Given the description of an element on the screen output the (x, y) to click on. 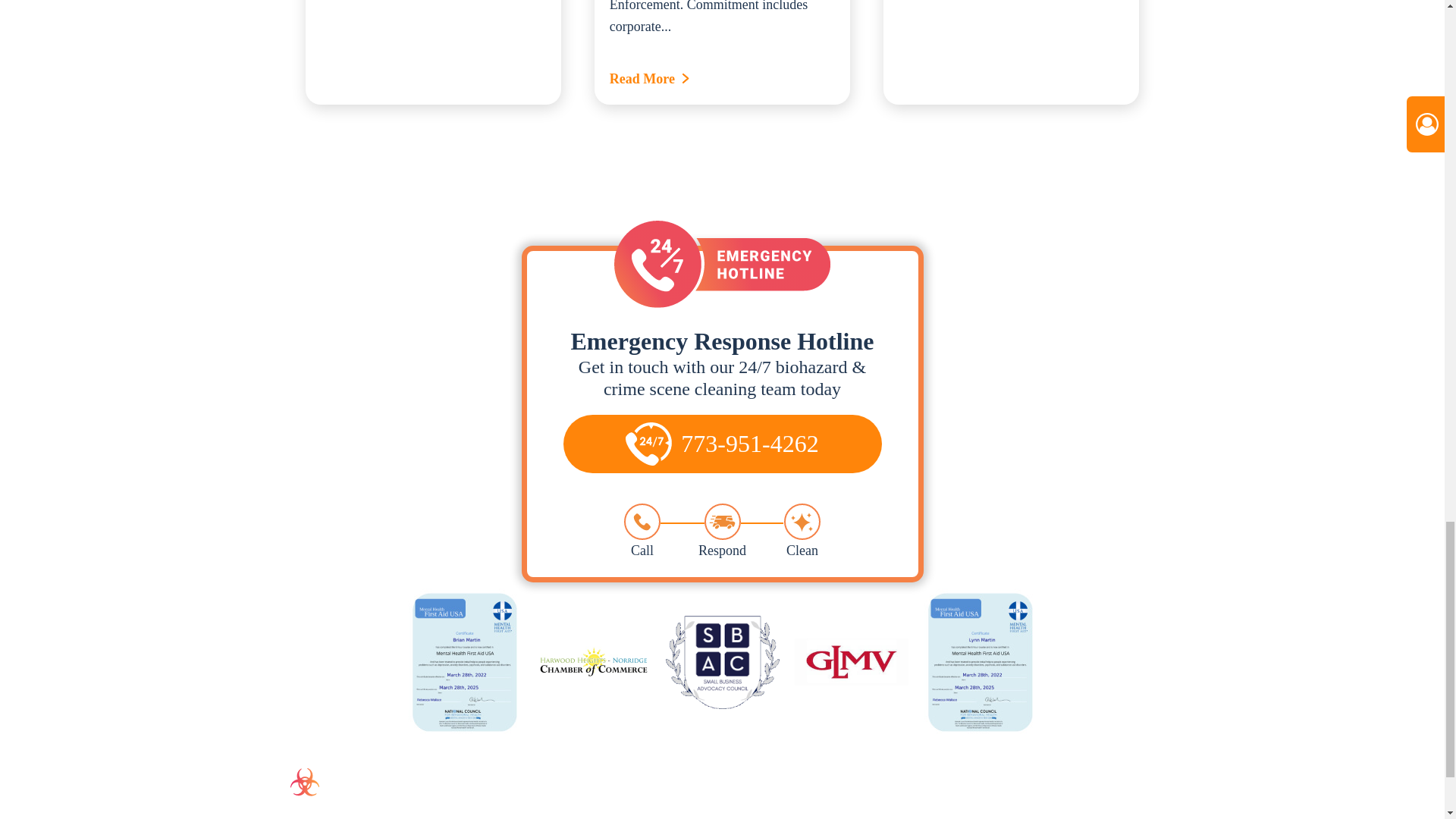
Read More (722, 78)
